Given the description of an element on the screen output the (x, y) to click on. 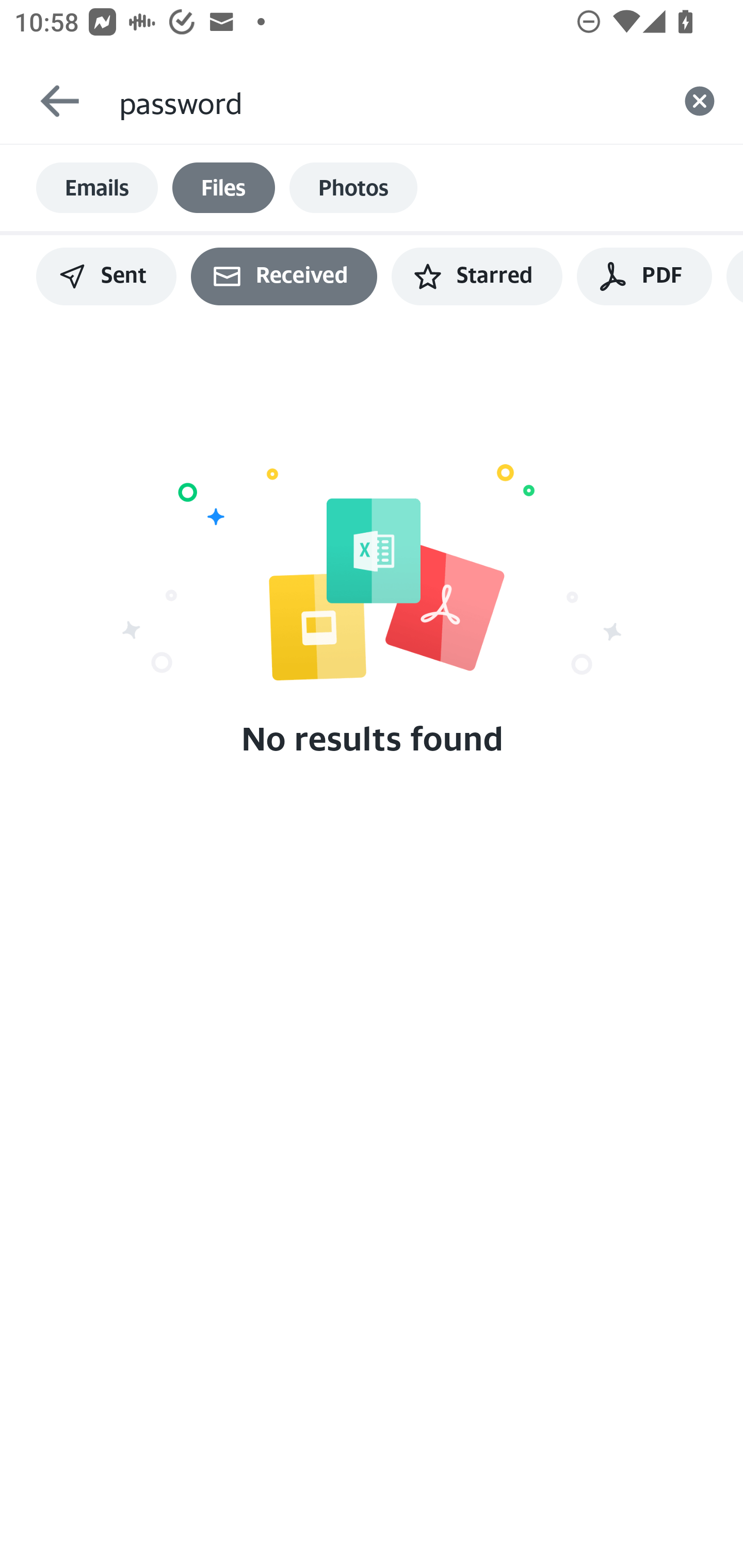
Back (50, 101)
password (387, 101)
Clear (699, 101)
Emails (96, 188)
Files (223, 188)
Photos (353, 188)
Sent (106, 276)
Starred (476, 276)
PDF (643, 276)
